Given the description of an element on the screen output the (x, y) to click on. 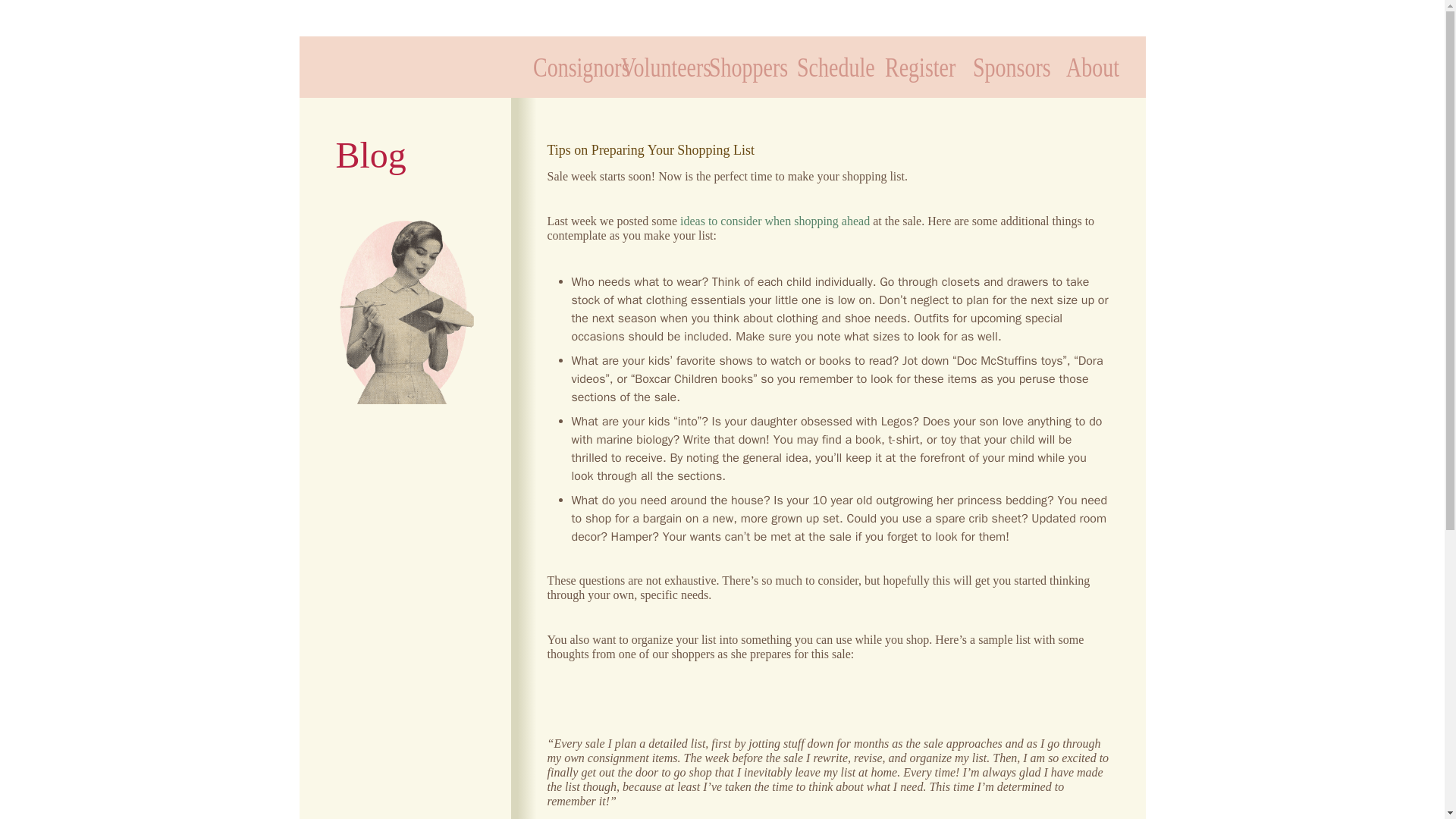
About (1091, 59)
Consignors (563, 59)
Schedule (828, 59)
Shoppers (739, 59)
Register (915, 59)
Sponsors (1004, 59)
Volunteers (652, 59)
